Given the description of an element on the screen output the (x, y) to click on. 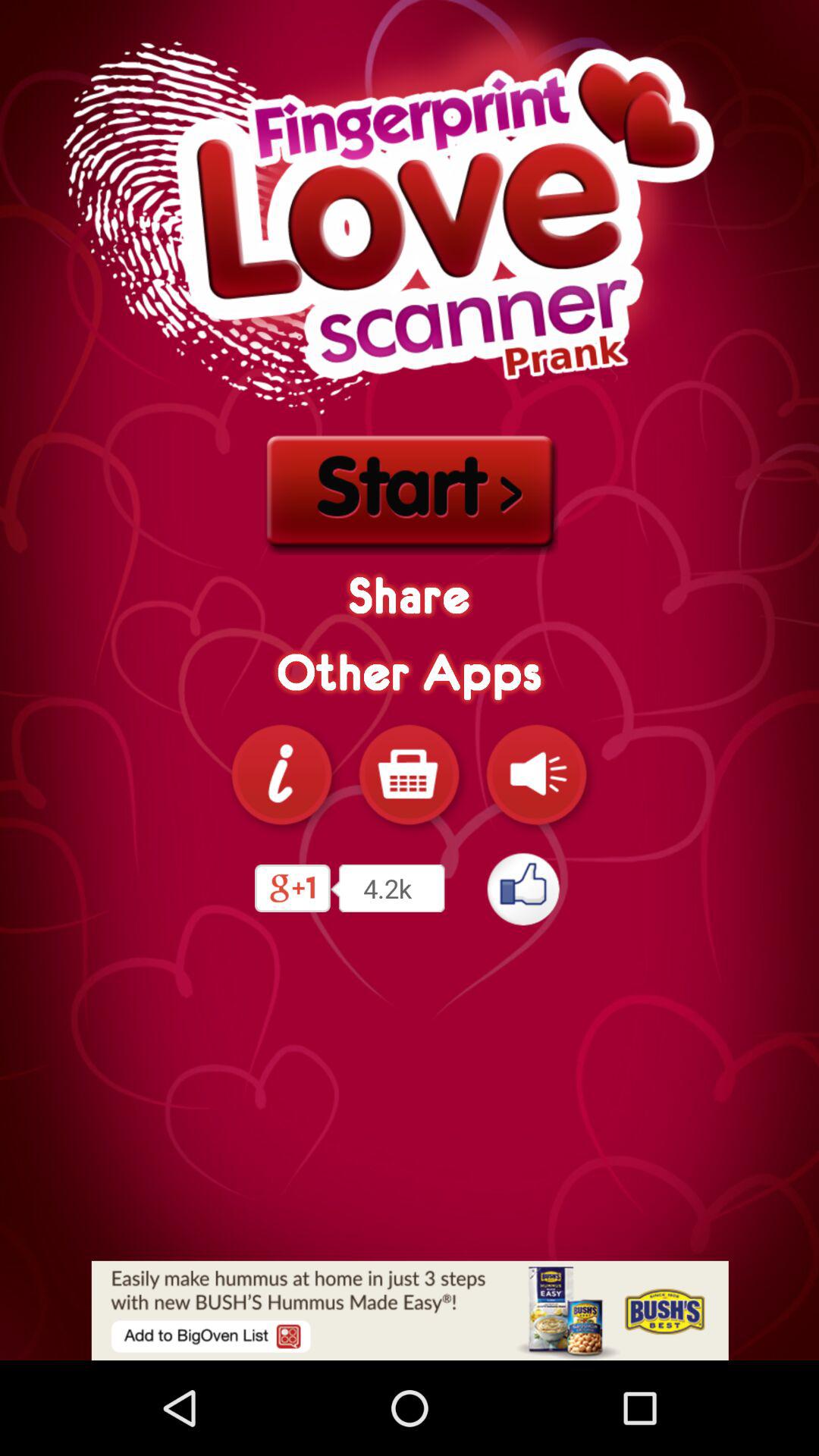
share the apps (281, 774)
